Given the description of an element on the screen output the (x, y) to click on. 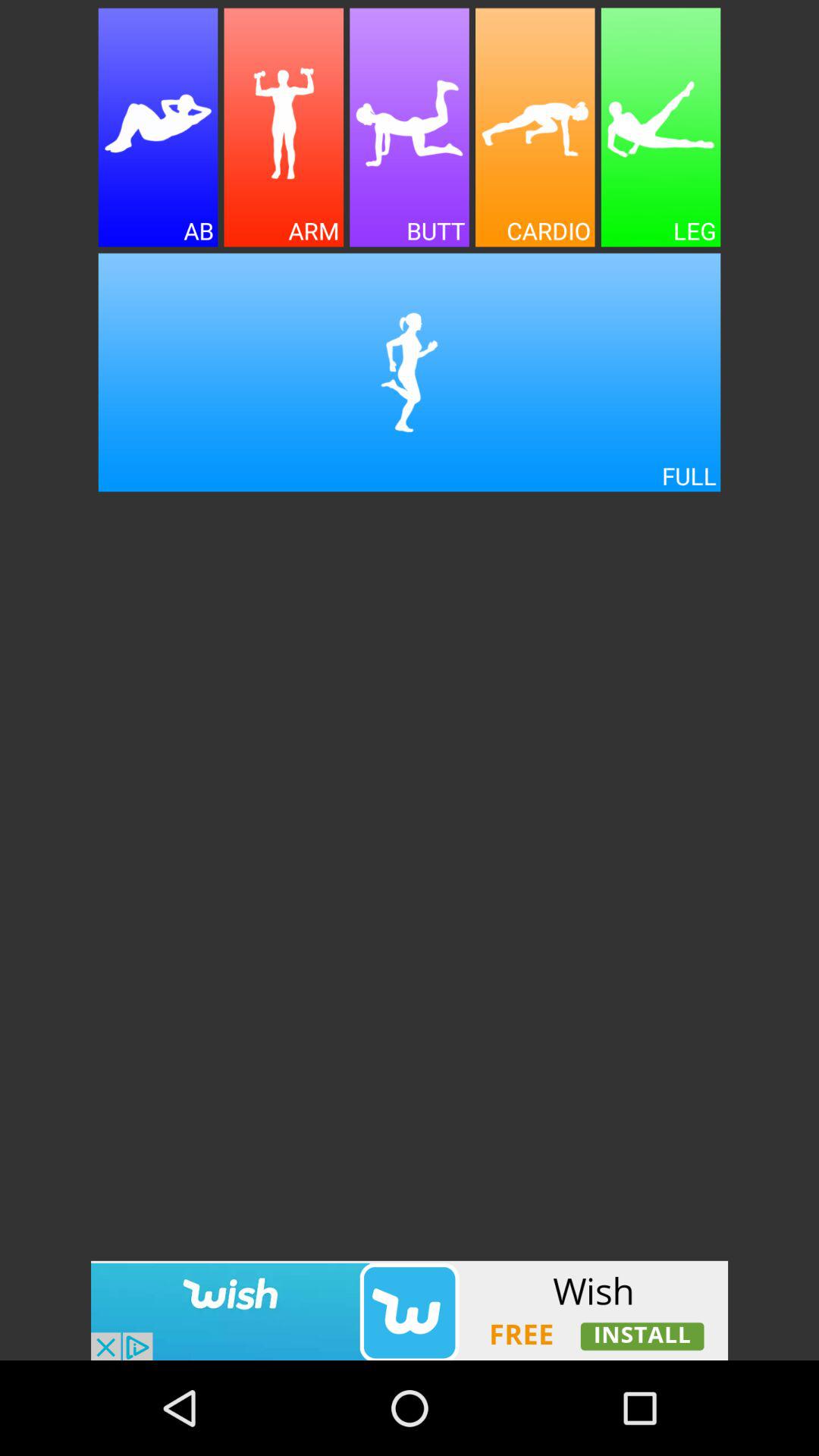
go to advertisement (409, 1310)
